Given the description of an element on the screen output the (x, y) to click on. 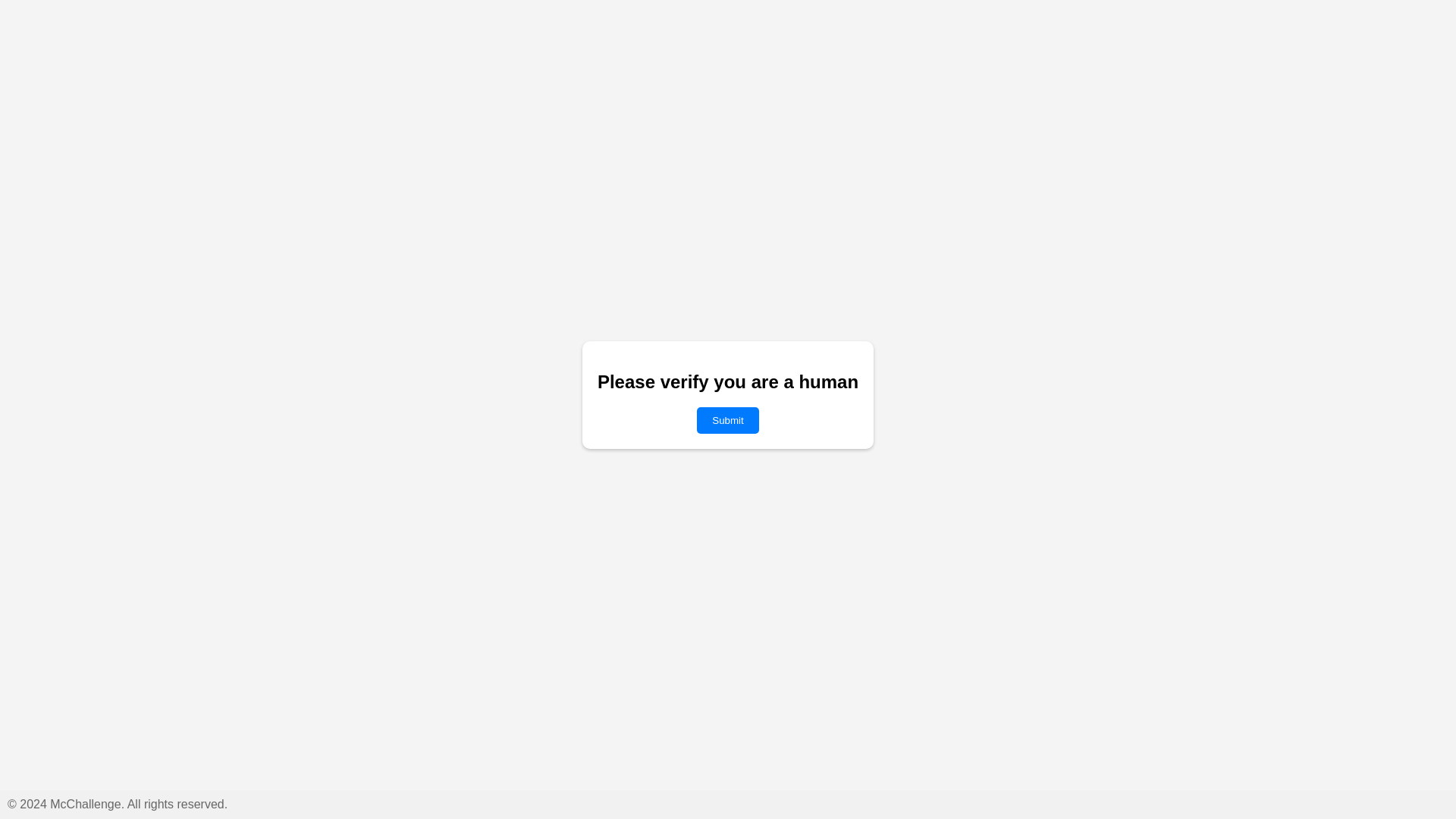
Submit (727, 420)
